Given the description of an element on the screen output the (x, y) to click on. 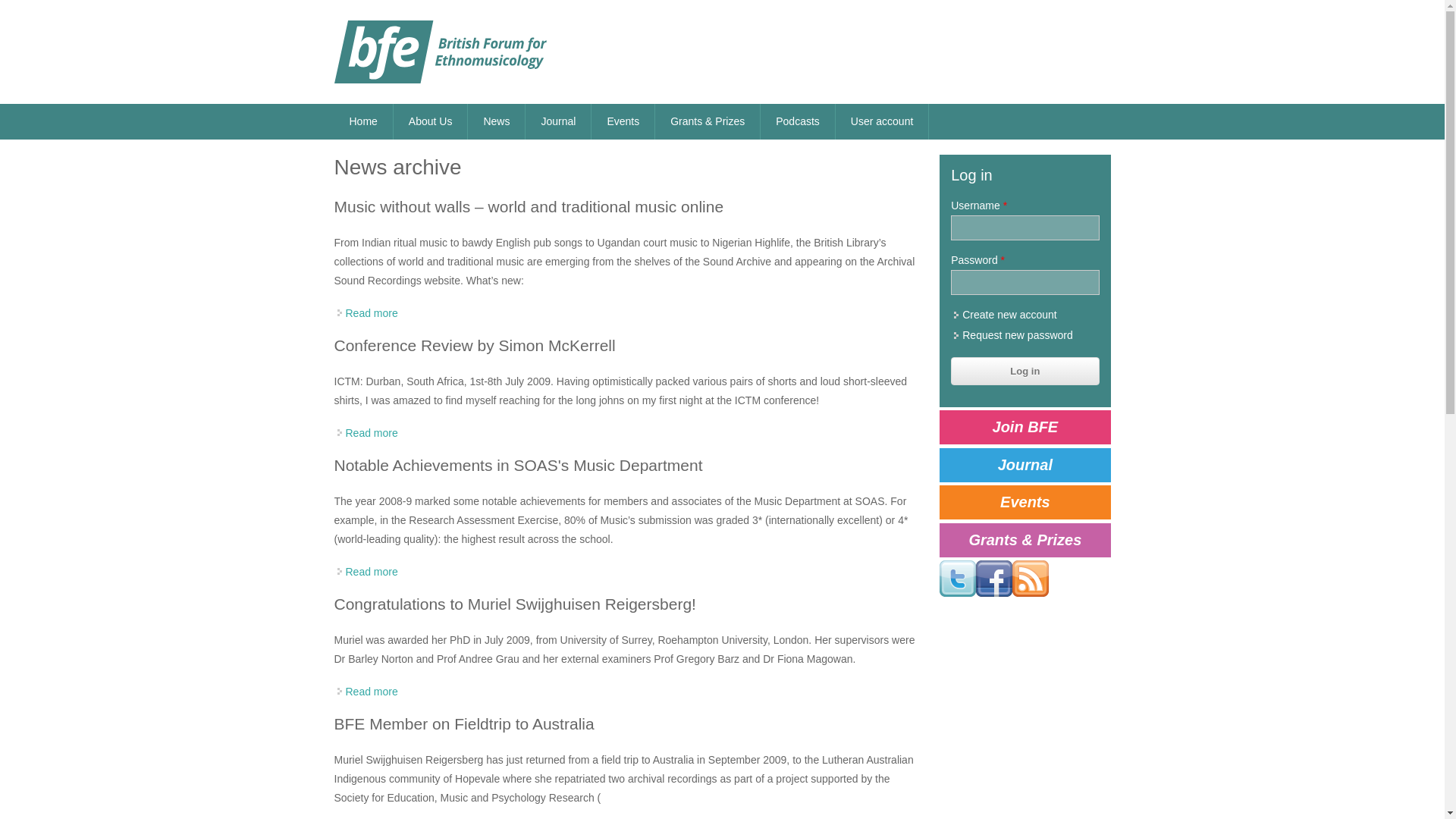
Events (622, 121)
Home (362, 121)
Home (439, 51)
News (495, 121)
Log in (1024, 370)
Journal (558, 121)
About Us (430, 121)
News (495, 121)
User account (881, 121)
Podcasts (797, 121)
